Given the description of an element on the screen output the (x, y) to click on. 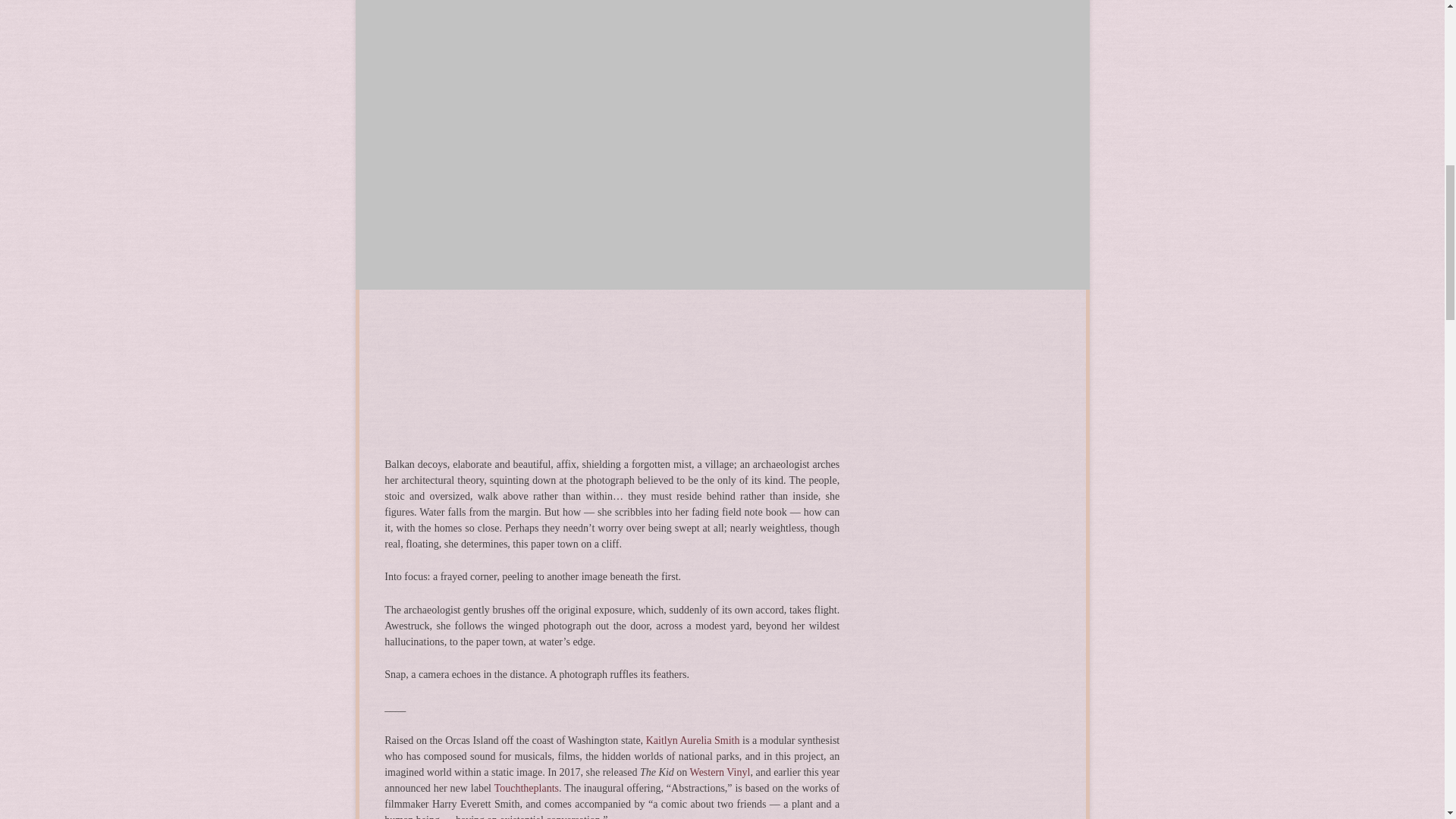
Western Vinyl (720, 772)
Kaitlyn Aurelia Smith (692, 740)
Touchtheplants (527, 787)
